Given the description of an element on the screen output the (x, y) to click on. 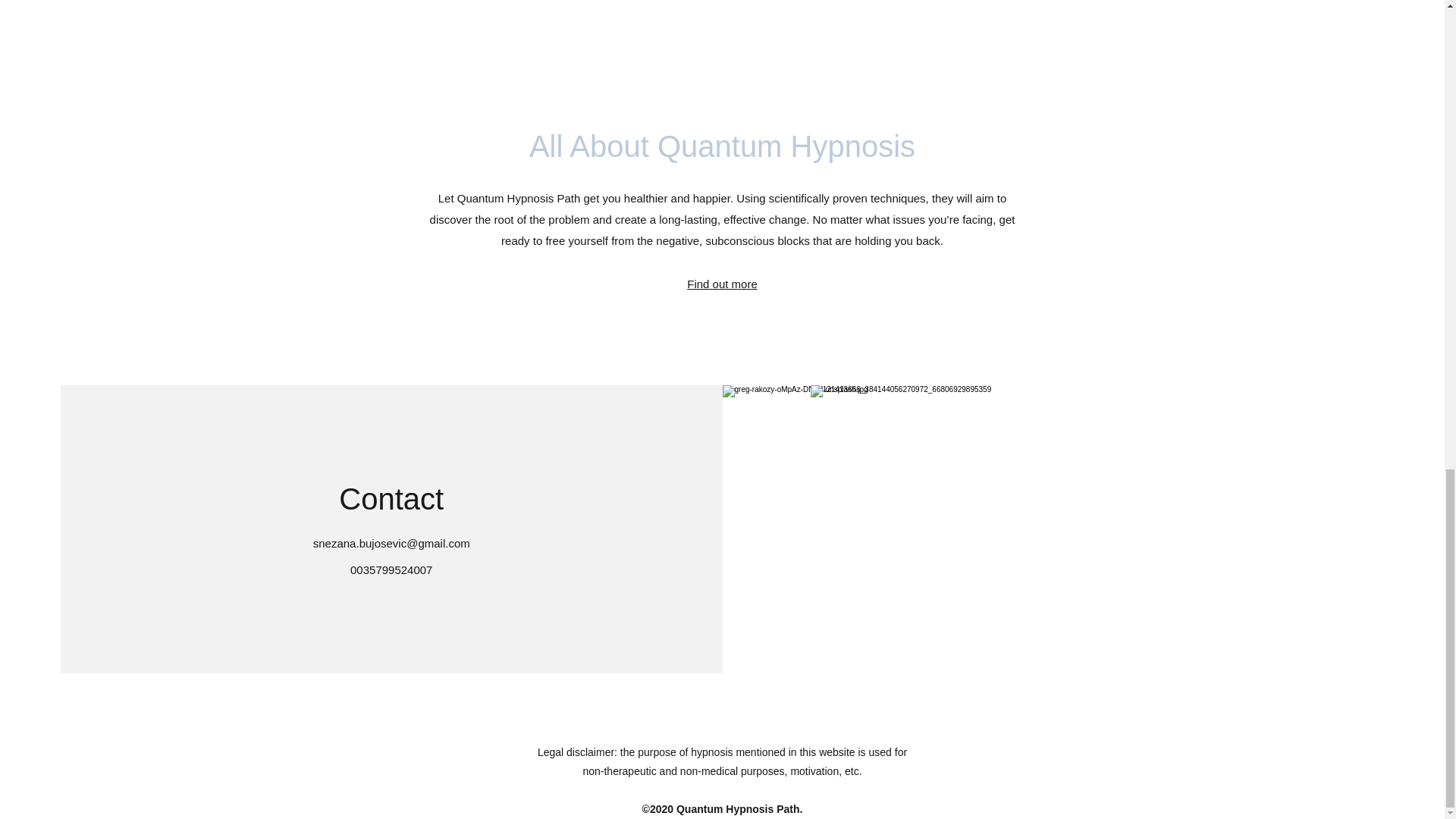
Find out more (722, 283)
